Given the description of an element on the screen output the (x, y) to click on. 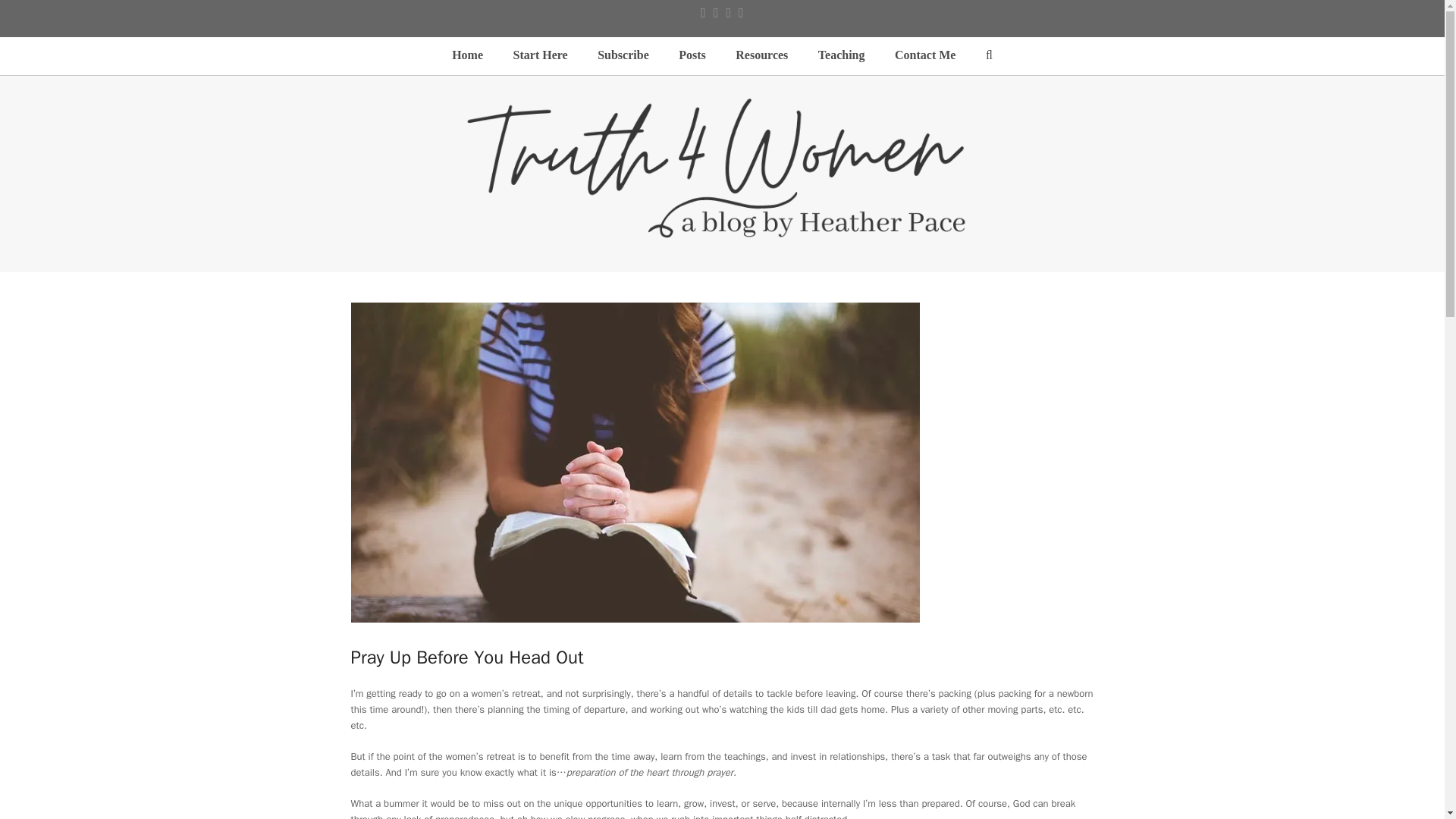
Facebook (716, 12)
Twitter (703, 12)
Contact Me (924, 55)
Instagram (729, 12)
Facebook (716, 12)
Twitter (703, 12)
Teaching (841, 55)
Subscribe (622, 55)
Resources (762, 55)
Start Here (539, 55)
Posts (692, 55)
Instagram (729, 12)
Pinterest (741, 12)
Pinterest (741, 12)
Home (467, 55)
